Given the description of an element on the screen output the (x, y) to click on. 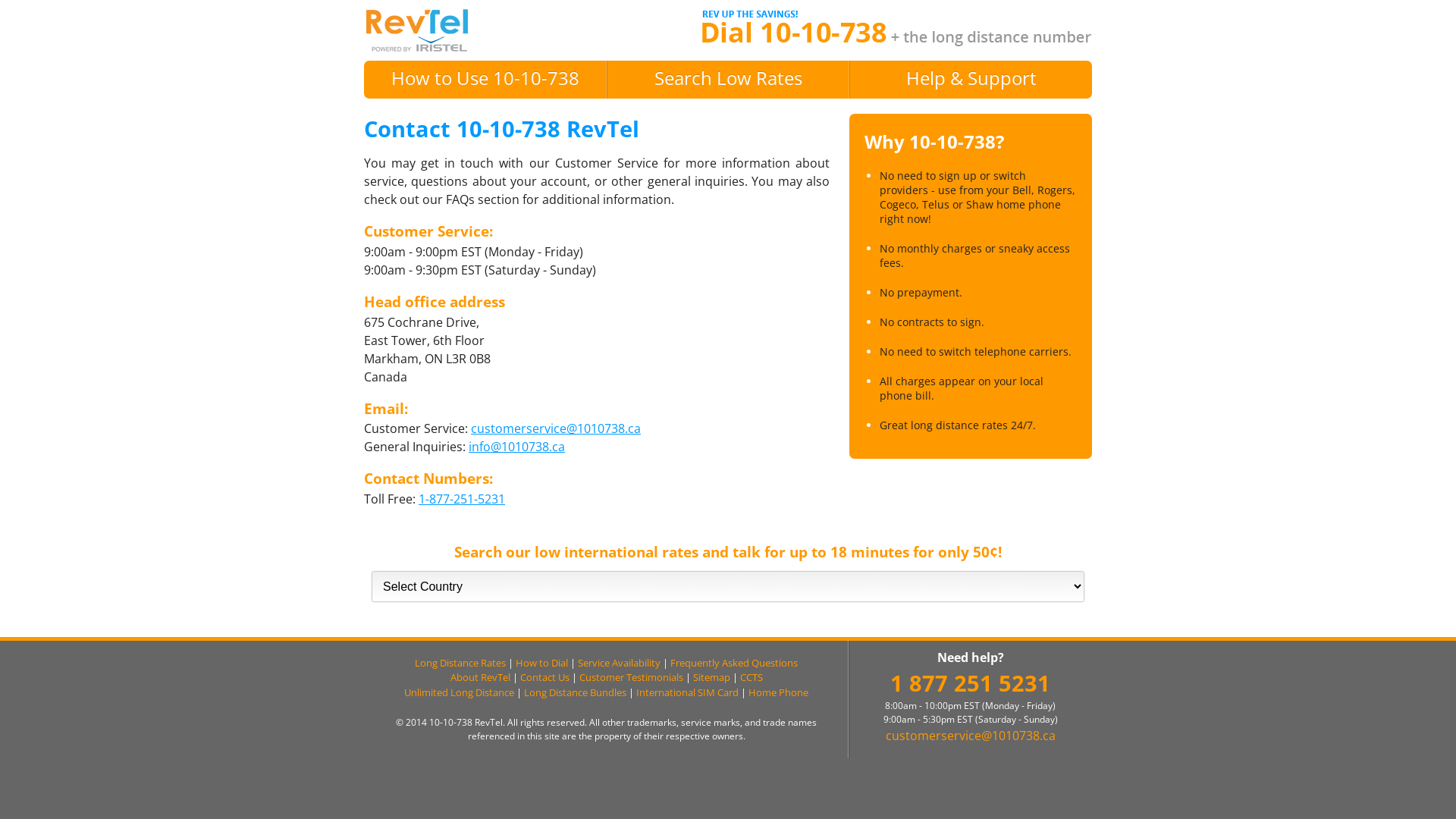
info@1010738.ca Element type: text (516, 446)
customerservice@1010738.ca Element type: text (970, 735)
How to Dial Element type: text (541, 662)
customerservice@1010738.ca Element type: text (555, 428)
Customer Testimonials Element type: text (631, 677)
1-877-251-5231 Element type: text (461, 498)
About RevTel Element type: text (480, 677)
Frequently Asked Questions Element type: text (733, 662)
1 877 251 5231 Element type: text (970, 682)
Help & Support Element type: text (971, 77)
Unlimited Long Distance Element type: text (459, 692)
Sitemap Element type: text (711, 677)
Home Phone Element type: text (778, 692)
Search Low Rates Element type: text (727, 77)
International SIM Card Element type: text (687, 692)
Long Distance Bundles Element type: text (575, 692)
CCTS Element type: text (751, 677)
Service Availability Element type: text (618, 662)
Dial 10-10-738 Element type: hover (417, 30)
Long Distance Rates Element type: text (459, 662)
Contact Us Element type: text (544, 677)
How to Use 10-10-738 Element type: text (484, 77)
